Given the description of an element on the screen output the (x, y) to click on. 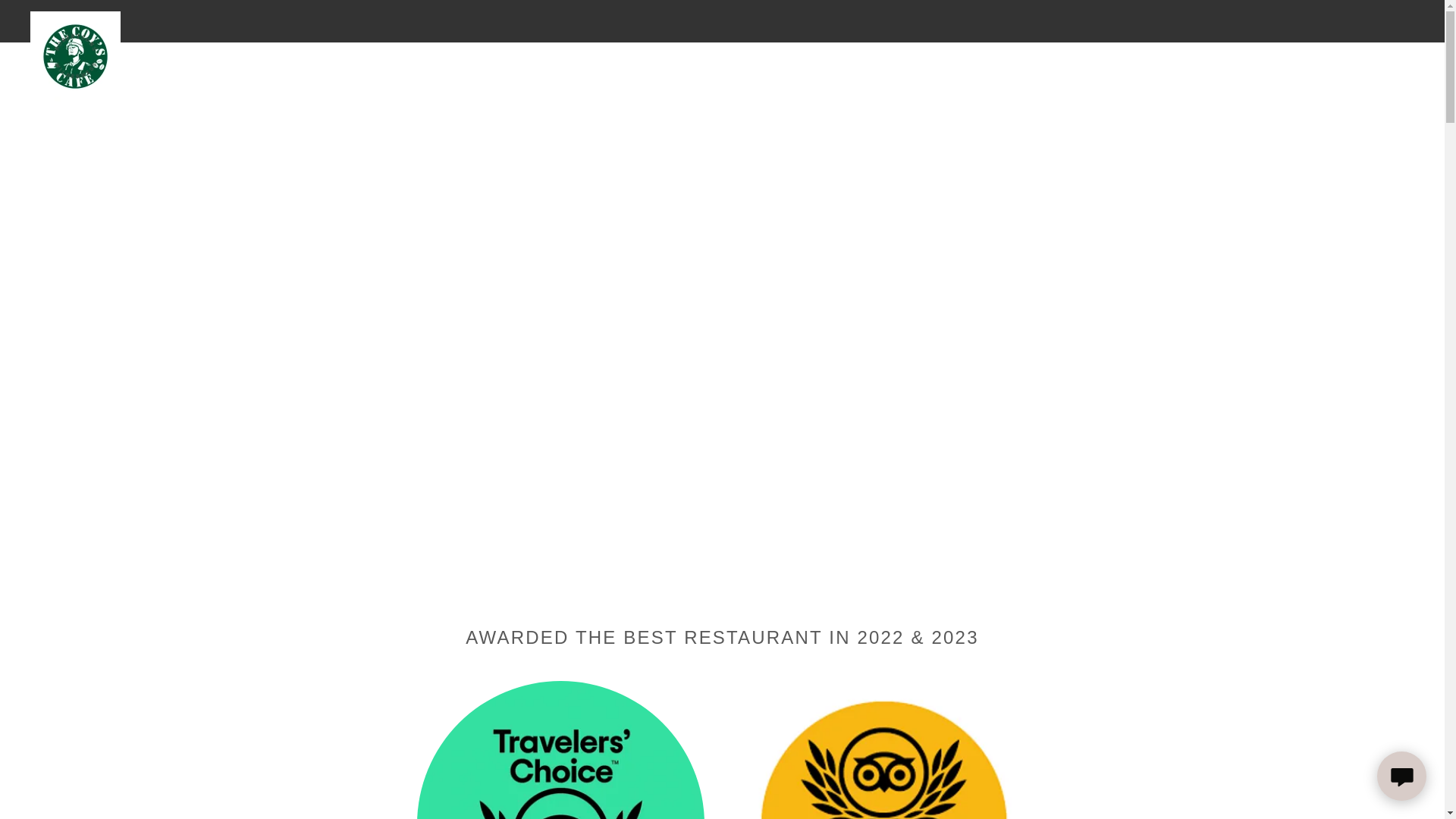
The Coy's Cafe (75, 18)
